Given the description of an element on the screen output the (x, y) to click on. 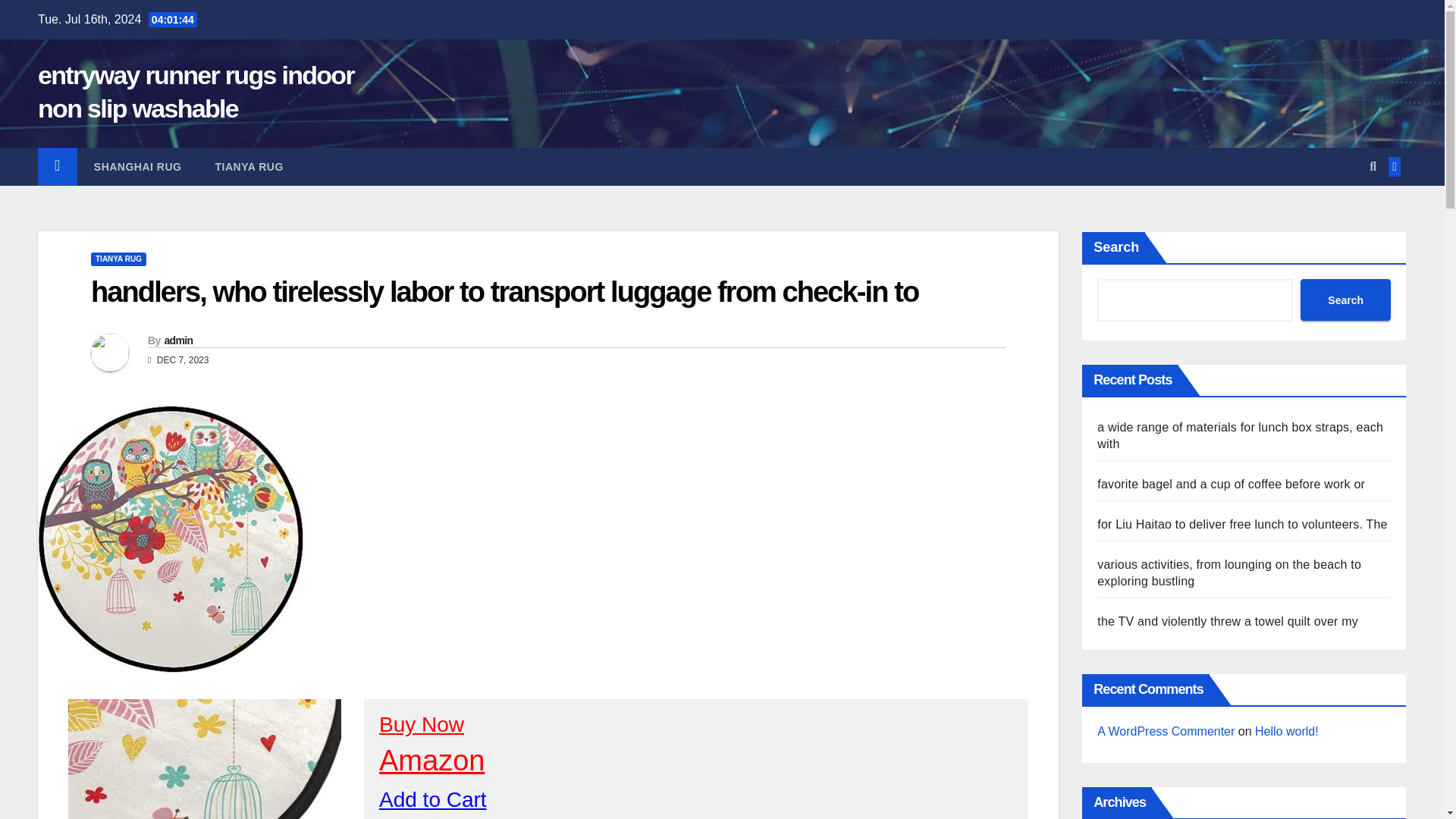
admin (177, 340)
TIANYA RUG (248, 166)
Add to Cart (432, 799)
SHANGHAI RUG (137, 166)
entryway runner rugs indoor non slip washable (195, 91)
Buy Now (421, 724)
Tianya rug (248, 166)
Shanghai rug (137, 166)
TIANYA RUG (118, 259)
Amazon (431, 760)
